Given the description of an element on the screen output the (x, y) to click on. 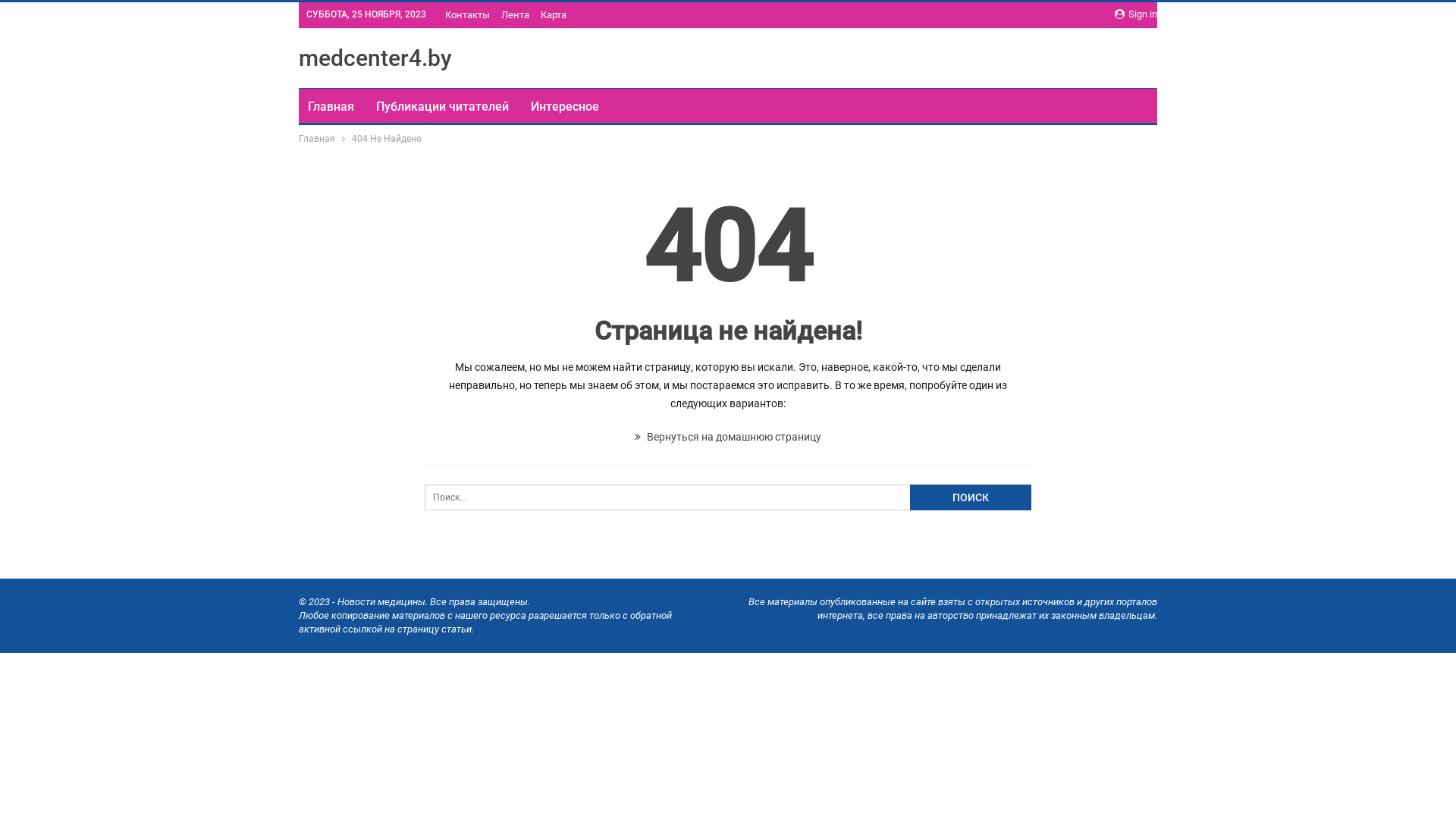
Sign in Element type: text (1135, 14)
medcenter4.by Element type: text (374, 57)
